Given the description of an element on the screen output the (x, y) to click on. 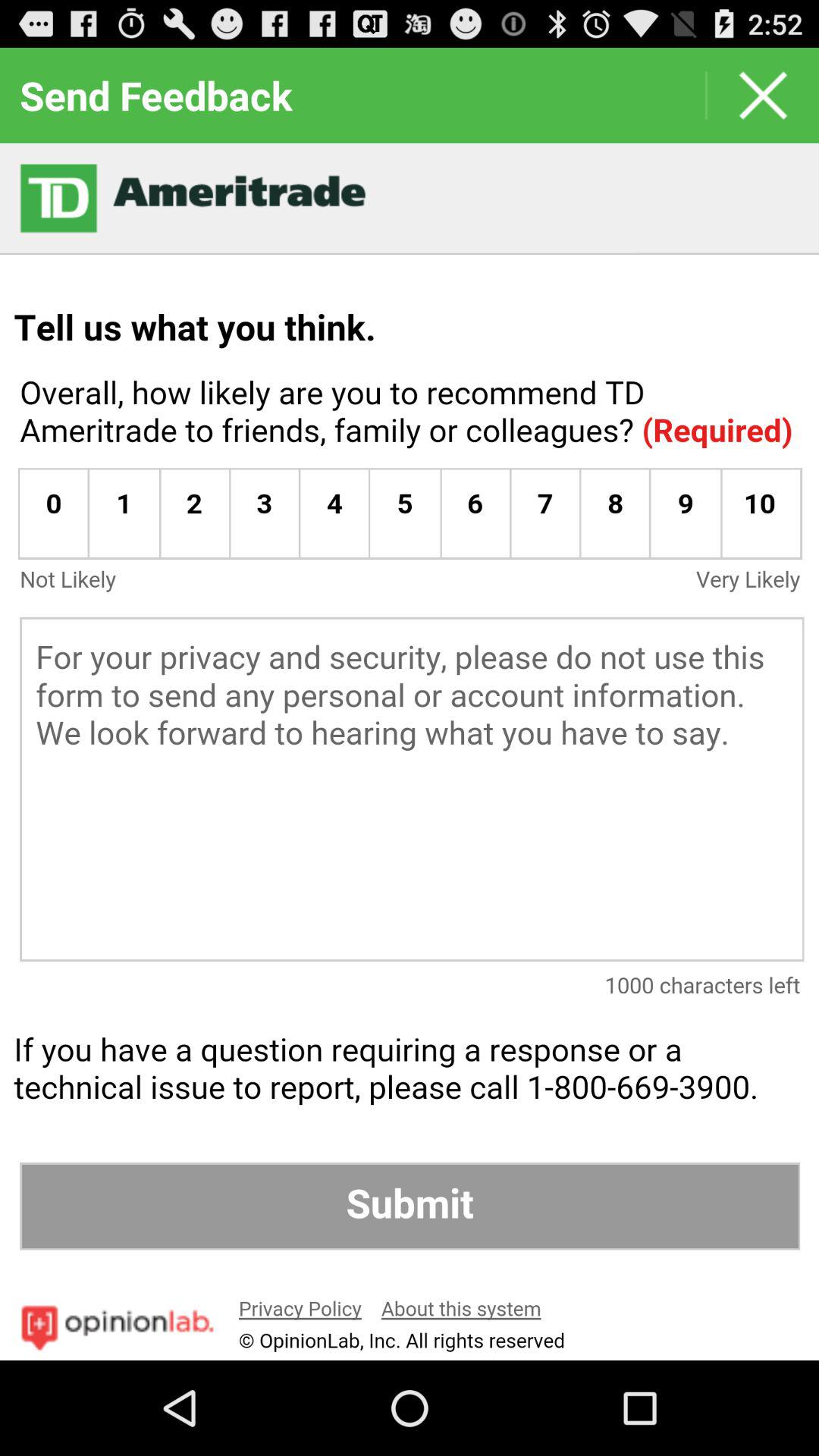
feedback page in middle (409, 751)
